Given the description of an element on the screen output the (x, y) to click on. 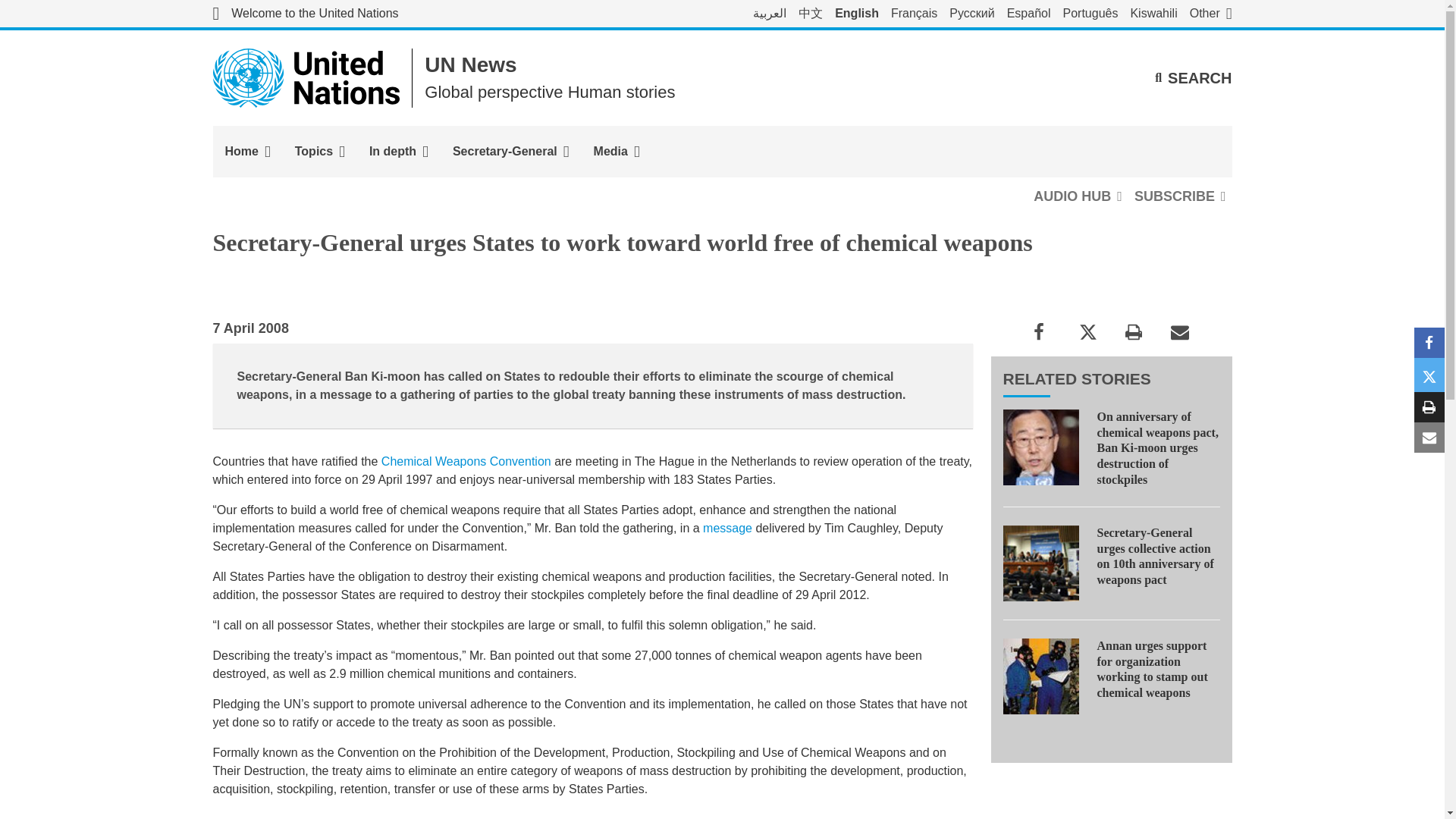
SEARCH (1192, 77)
United Nations (304, 13)
UN News (470, 64)
Topics (319, 151)
English (856, 13)
United Nations (305, 76)
Kiswahili (1152, 13)
Home (247, 151)
Other (1210, 13)
Home (247, 151)
